Given the description of an element on the screen output the (x, y) to click on. 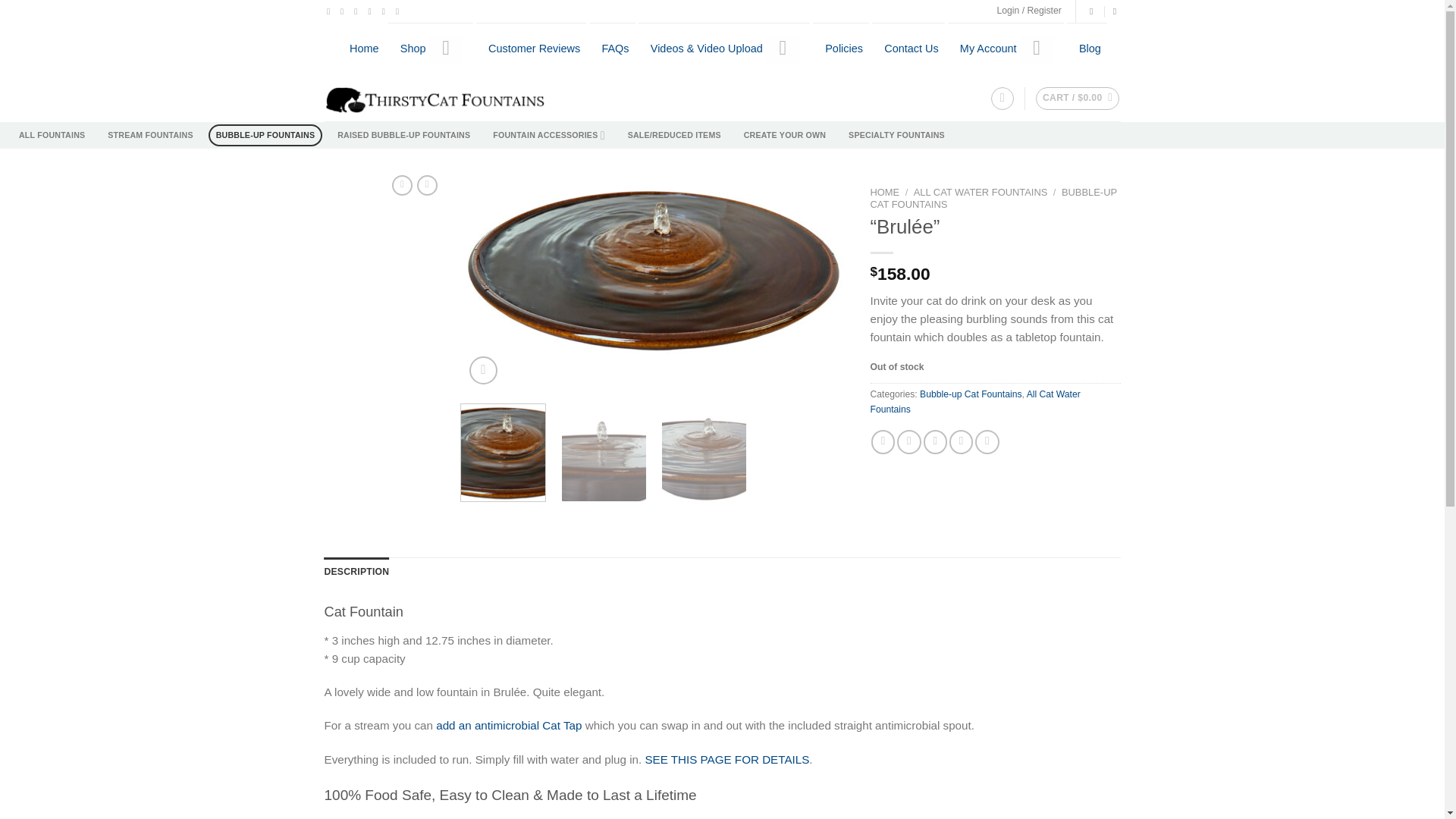
RAISED BUBBLE-UP FOUNTAINS (403, 135)
Home (363, 49)
Contact Us (910, 49)
FOUNTAIN ACCESSORIES (547, 135)
Cart (1077, 97)
ALL FOUNTAINS (52, 135)
FAQs (614, 49)
Send us an email (372, 10)
STREAM FOUNTAINS (150, 135)
Shop (413, 49)
Follow on Pinterest (385, 10)
Zoom (482, 370)
Shop for Cat Fountains (413, 49)
BUBBLE-UP FOUNTAINS (265, 135)
Follow on YouTube (400, 10)
